Given the description of an element on the screen output the (x, y) to click on. 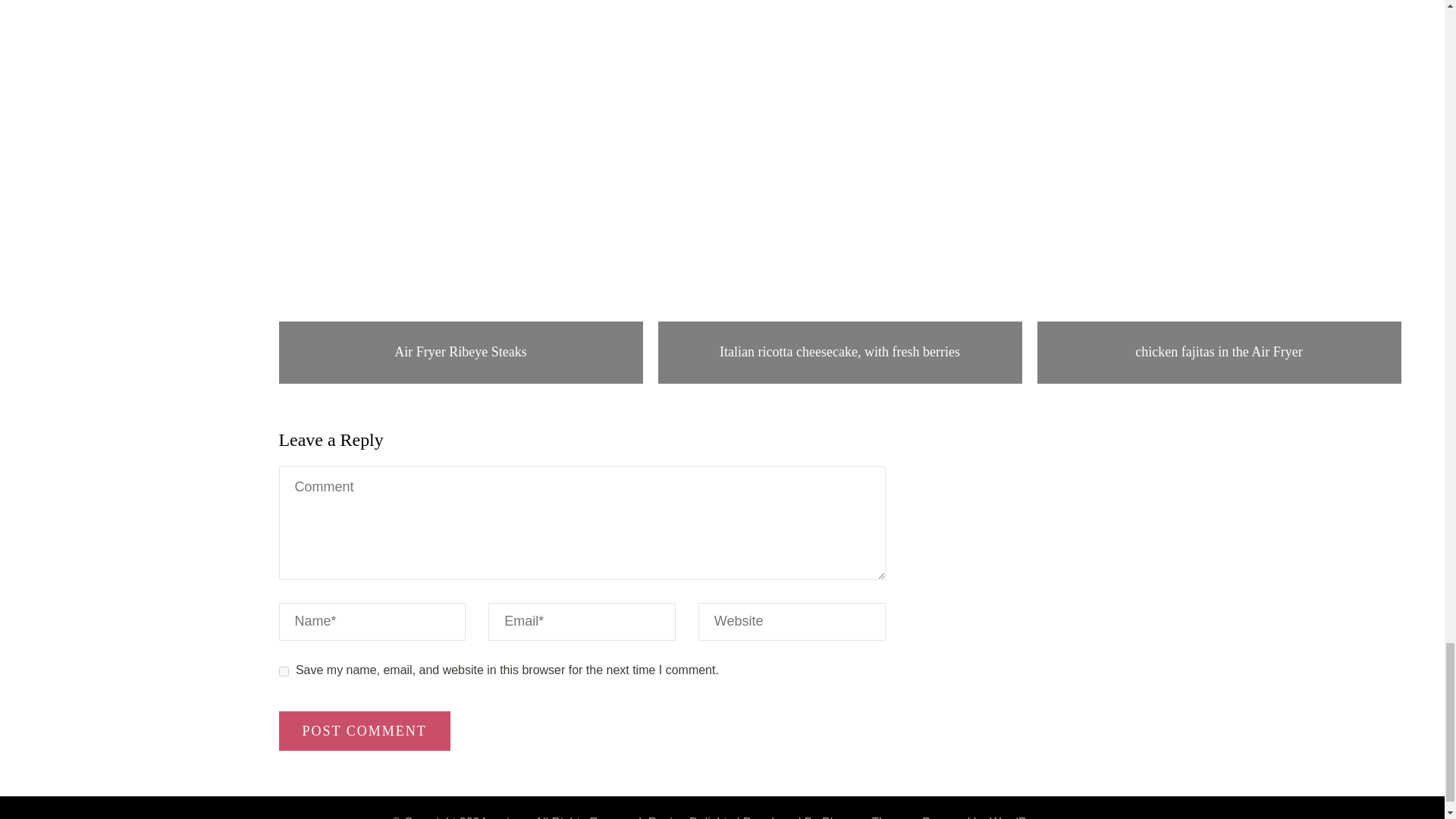
Air Fryer Ribeye Steaks (460, 352)
chicken fajitas in the Air Fryer (1219, 352)
Post Comment (364, 731)
Italian ricotta cheesecake, with fresh berries (839, 352)
Post Comment (364, 731)
yes (283, 670)
